Given the description of an element on the screen output the (x, y) to click on. 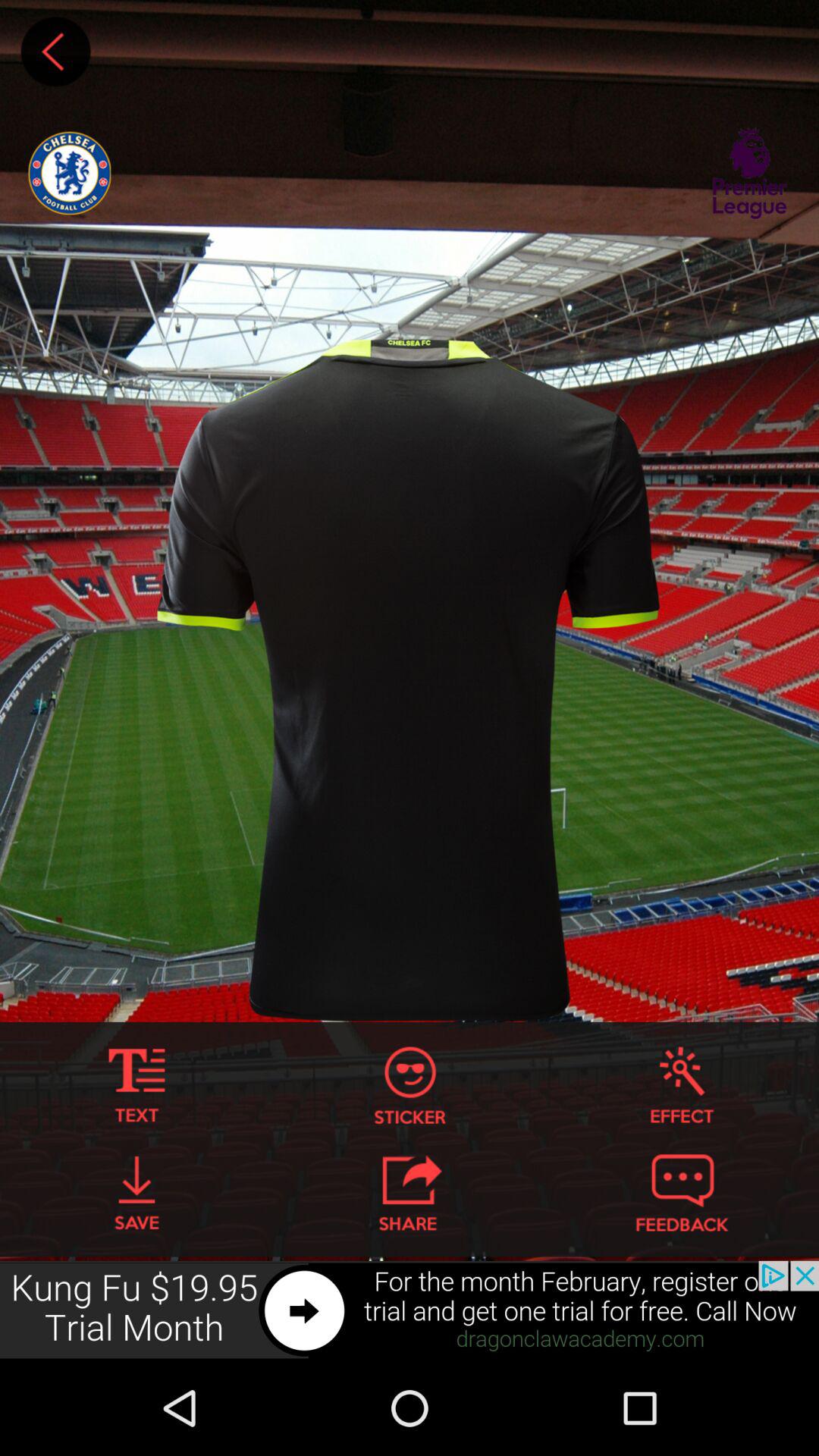
share item (409, 1193)
